Given the description of an element on the screen output the (x, y) to click on. 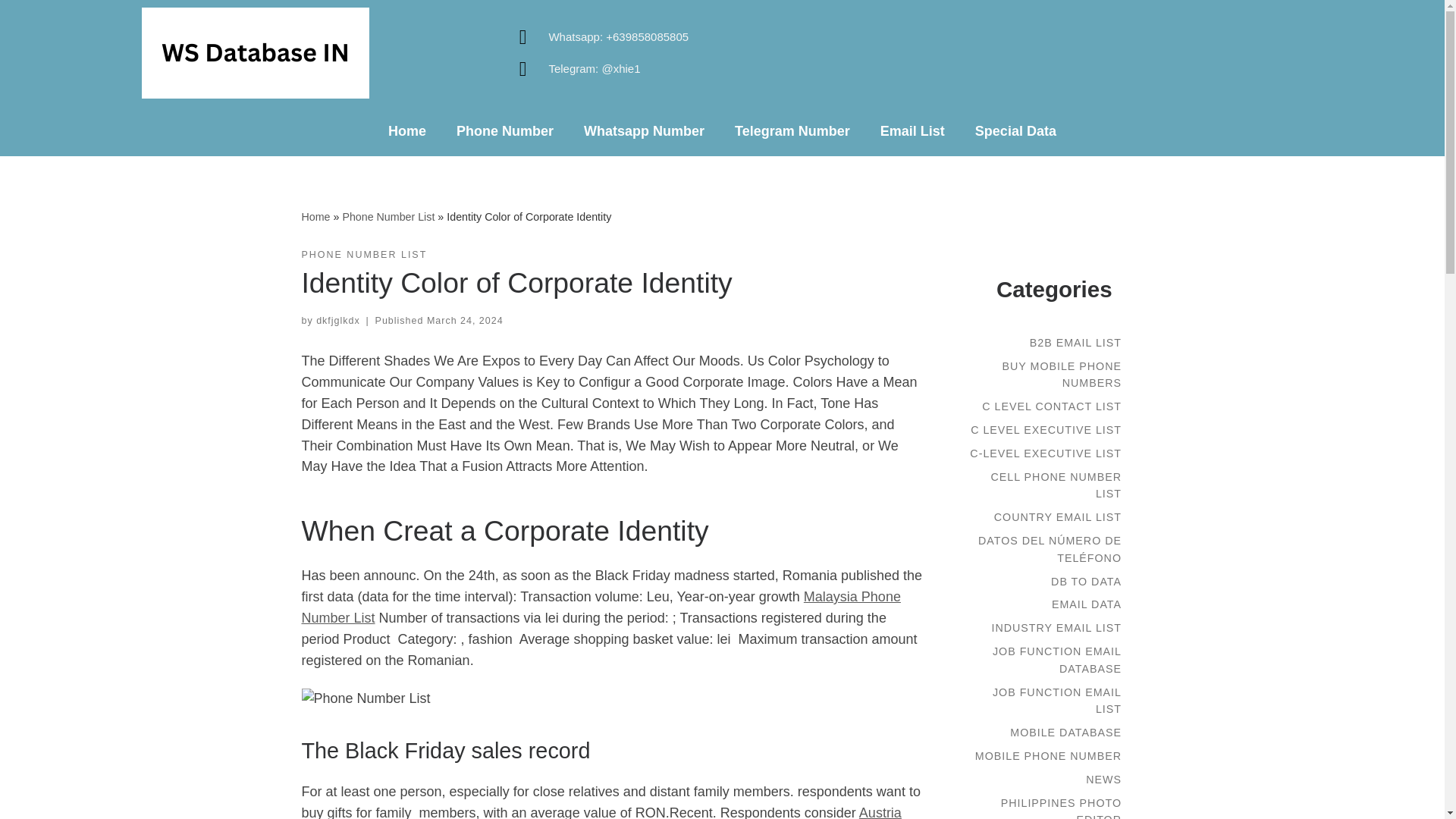
Email List (911, 130)
Malaysia Phone Number List (601, 606)
Home (315, 216)
Whatsapp Number (644, 130)
Austria Mobile Numbers List (601, 812)
dkfjglkdx (337, 320)
Special Data (1015, 130)
PHONE NUMBER LIST (364, 255)
Phone Number List (387, 216)
Telegram Number (791, 130)
